Given the description of an element on the screen output the (x, y) to click on. 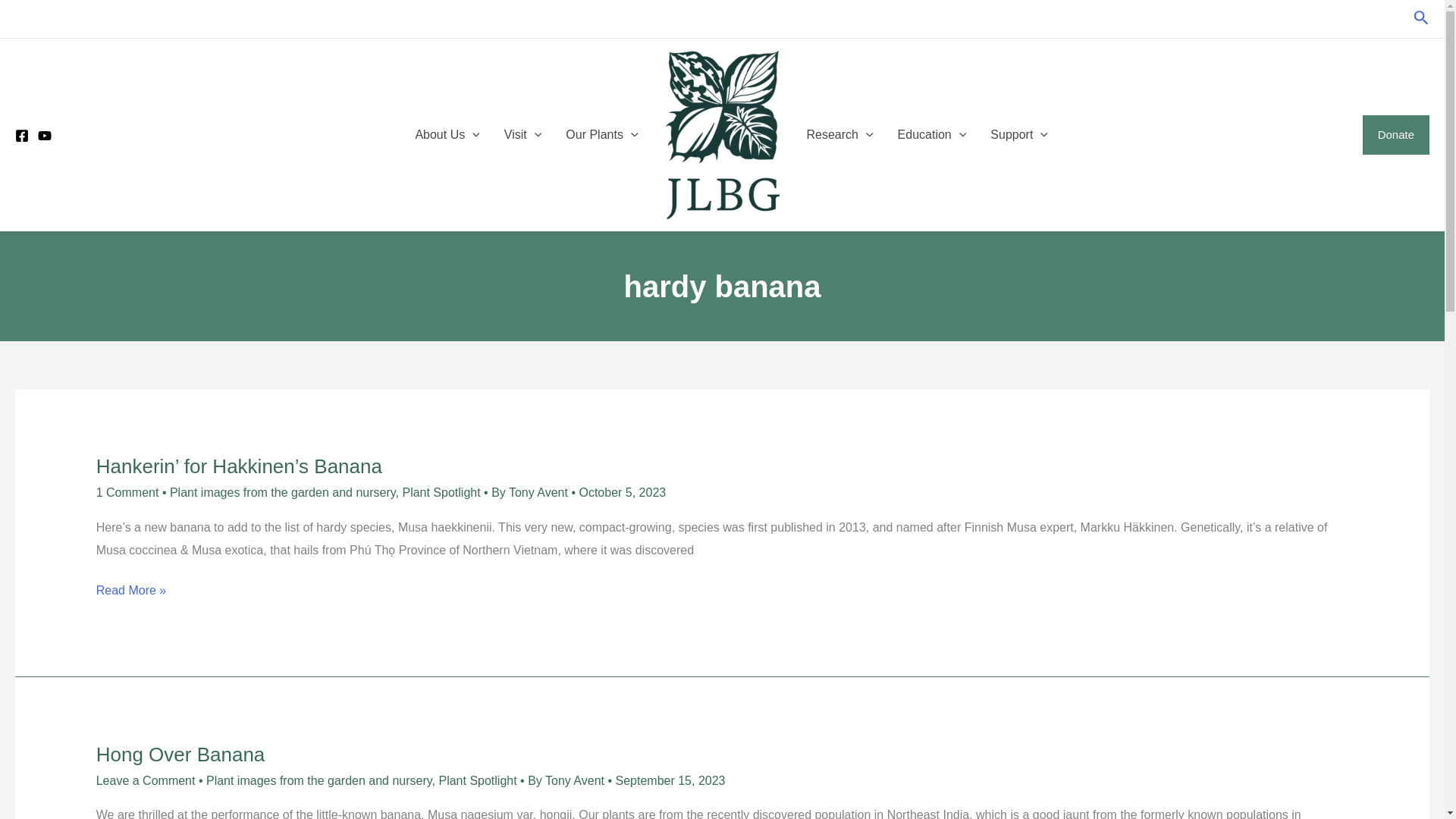
Visit (523, 134)
About Us (447, 134)
Research (839, 134)
Our Plants (601, 134)
View all posts by Tony Avent (539, 492)
View all posts by Tony Avent (575, 780)
